Given the description of an element on the screen output the (x, y) to click on. 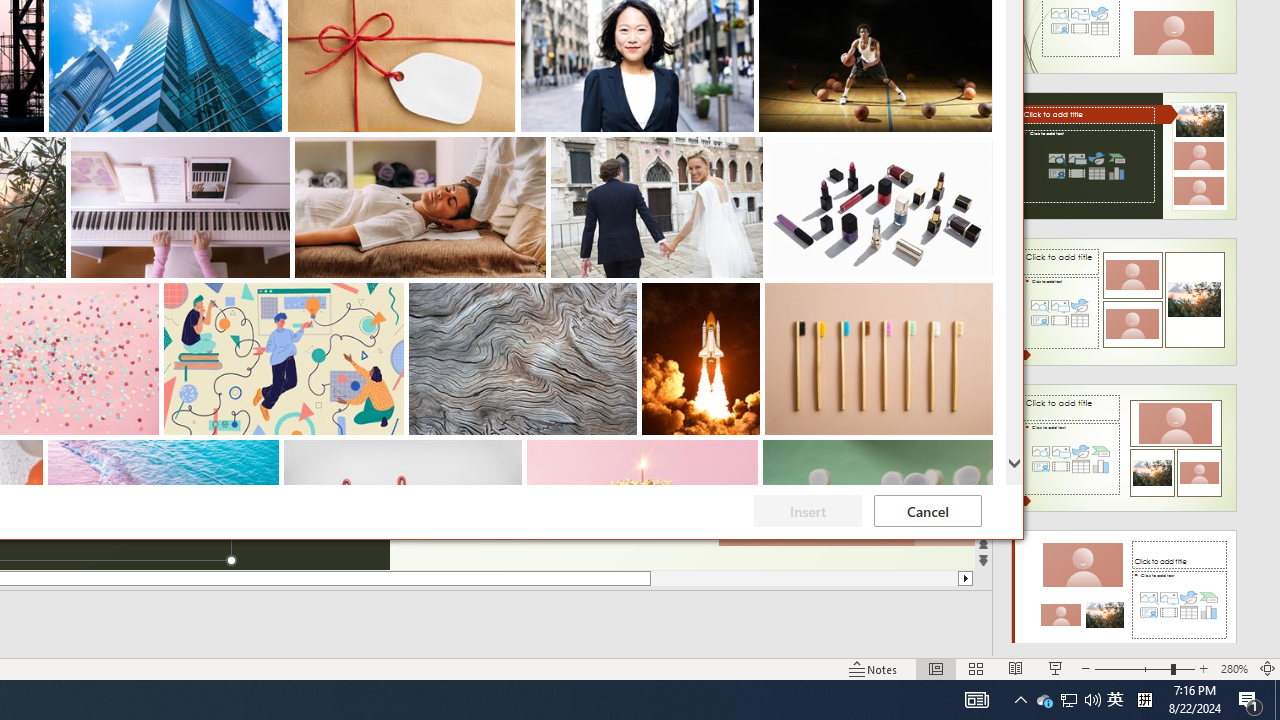
Show desktop (1277, 699)
Tray Input Indicator - Chinese (Simplified, China) (1144, 699)
Q2790: 100% (1092, 699)
